Given the description of an element on the screen output the (x, y) to click on. 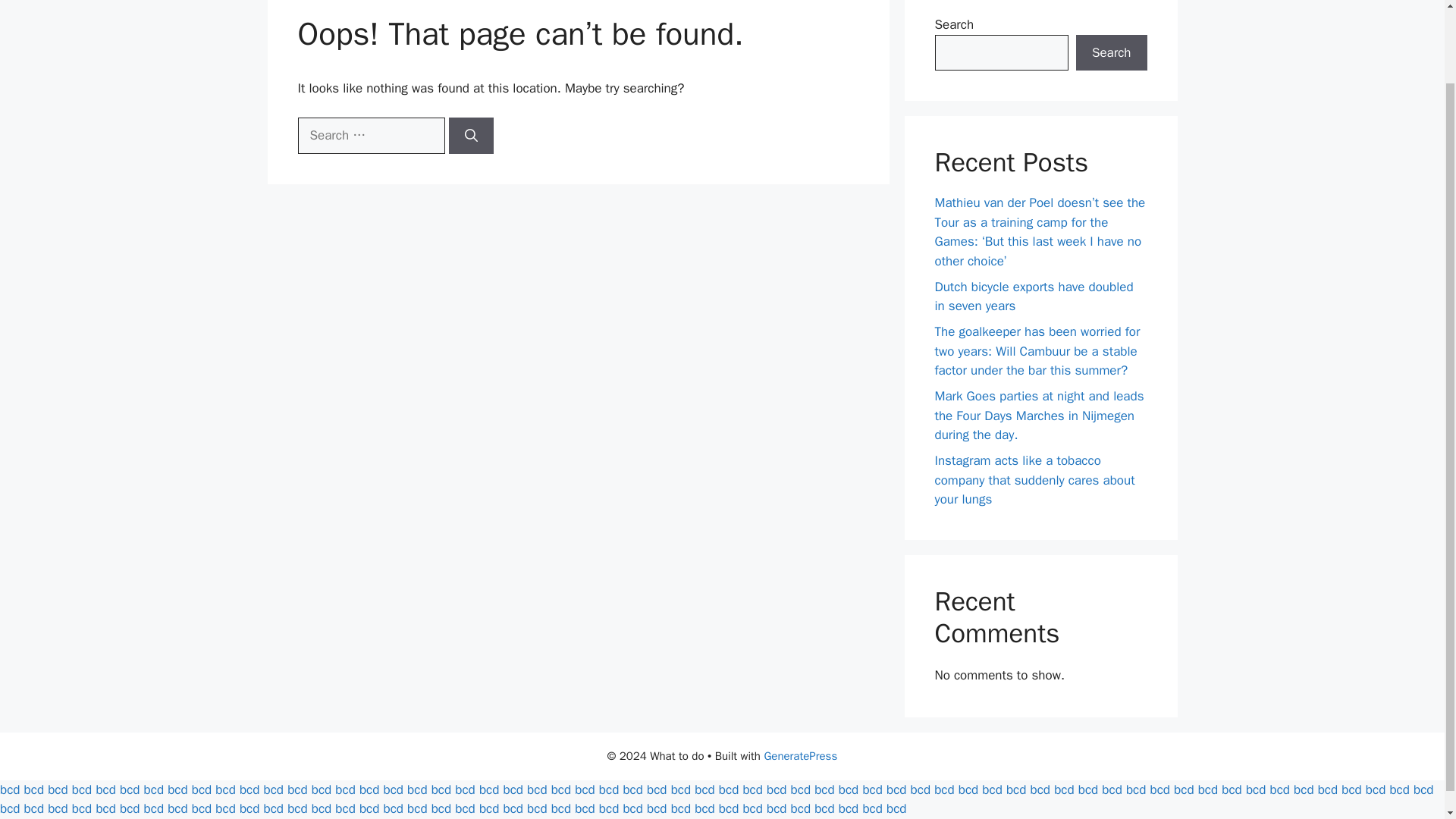
bcd (10, 789)
bcd (81, 789)
bcd (368, 789)
bcd (201, 789)
Search for: (370, 135)
bcd (560, 789)
bcd (153, 789)
bcd (105, 789)
Search (1111, 53)
GeneratePress (799, 755)
bcd (273, 789)
bcd (296, 789)
bcd (224, 789)
bcd (464, 789)
bcd (321, 789)
